Given the description of an element on the screen output the (x, y) to click on. 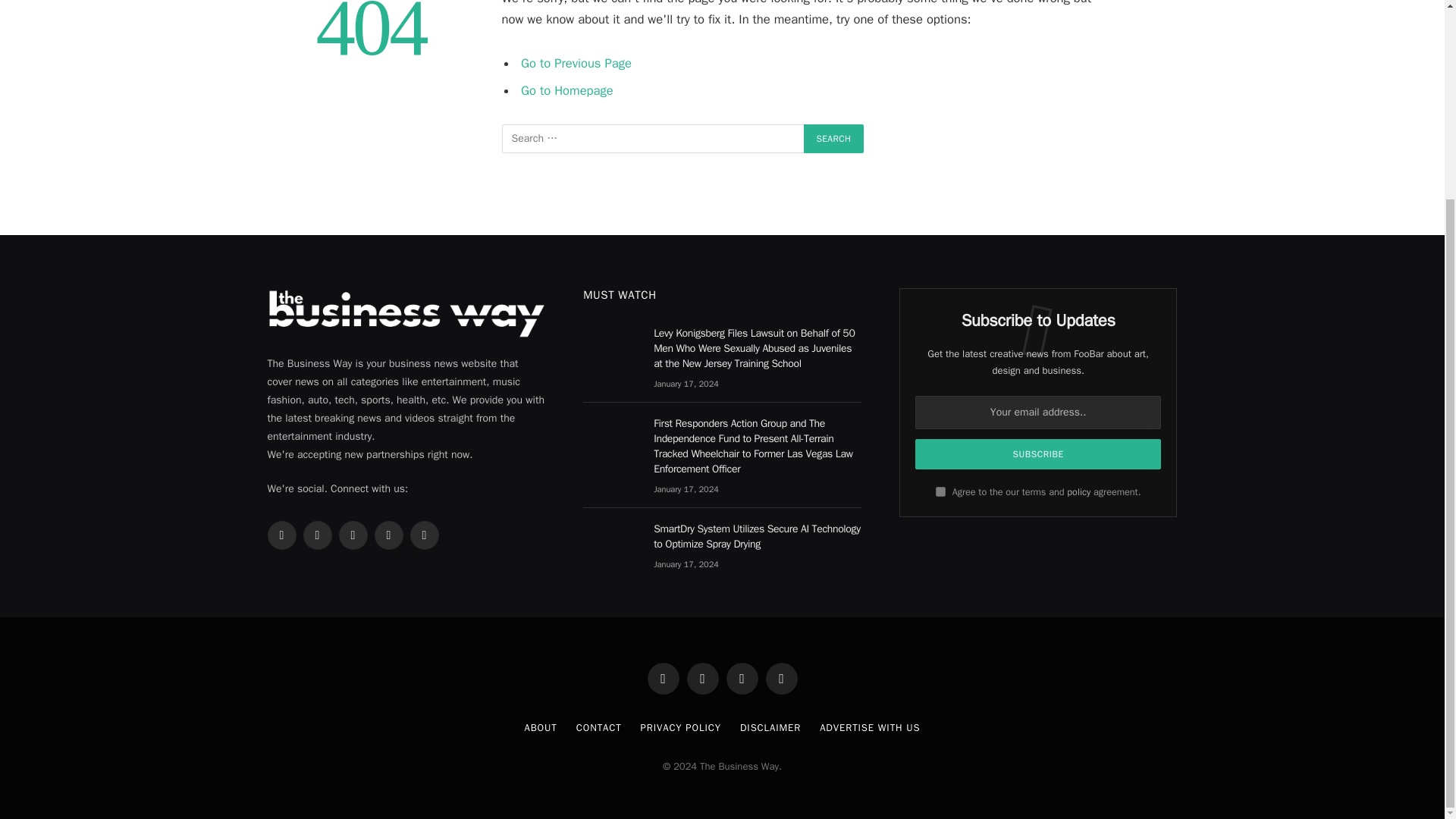
Subscribe (1038, 453)
Search (833, 138)
Go to Previous Page (576, 63)
Search (833, 138)
on (940, 491)
Go to Homepage (566, 89)
